Given the description of an element on the screen output the (x, y) to click on. 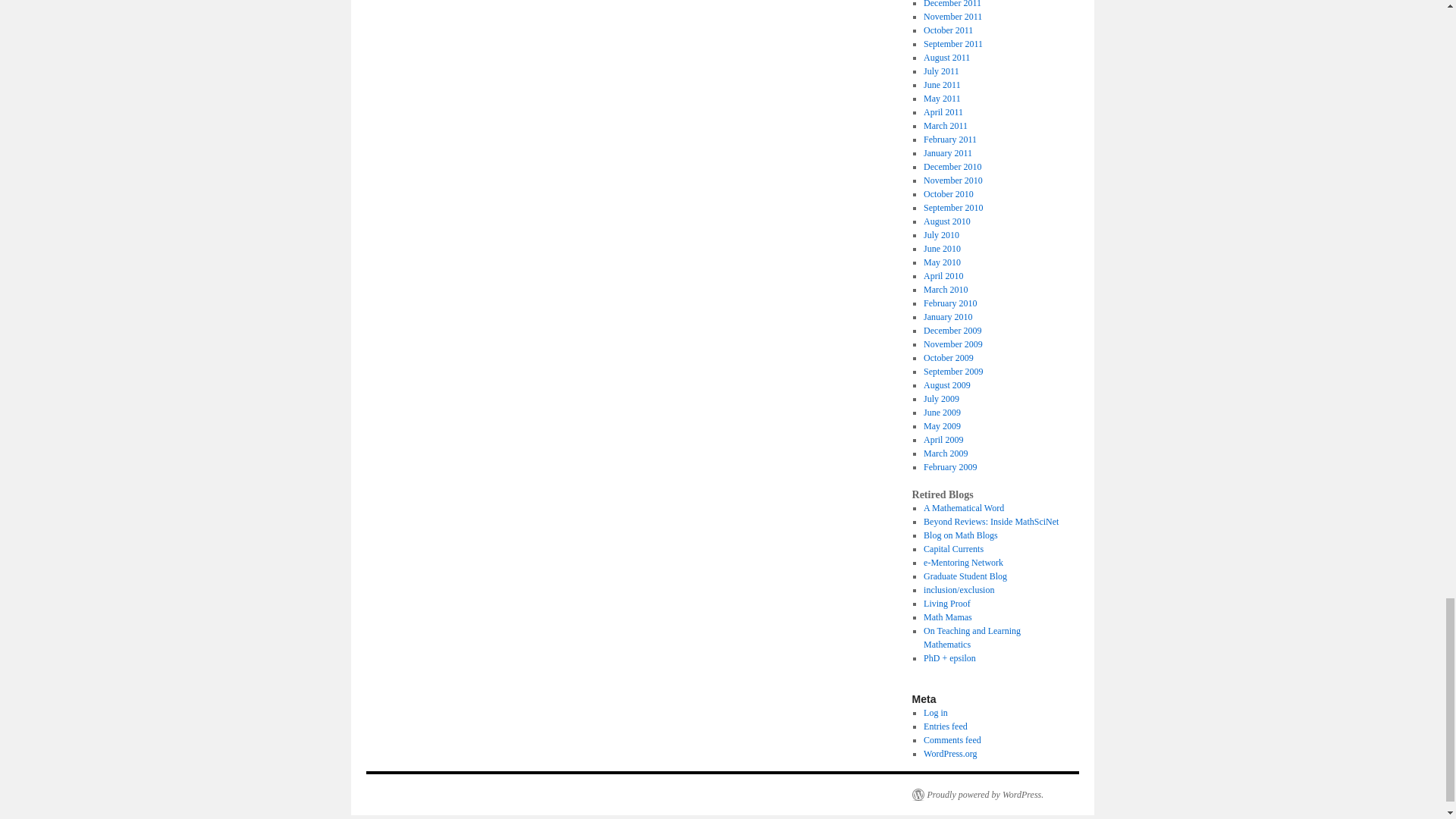
A Mathematical Word (963, 507)
Beyond Reviews: Inside MathSciNet (990, 521)
Capital Currents (953, 548)
On Teaching and Learning Mathematics (971, 637)
Blog on Math Blogs (960, 534)
Living Proof (947, 603)
Graduate Student Blog (965, 575)
